Given the description of an element on the screen output the (x, y) to click on. 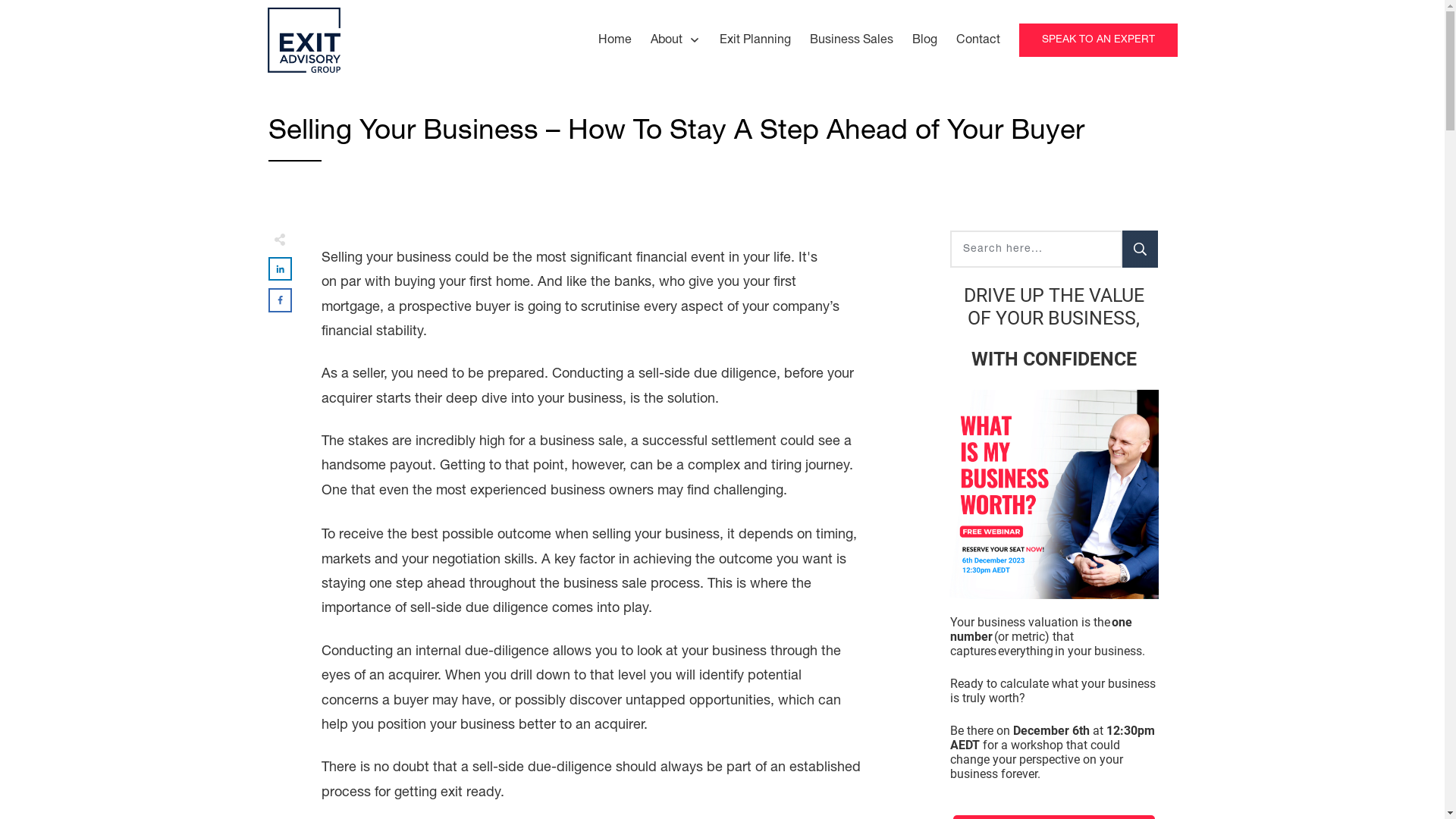
Business Sales Element type: text (851, 40)
About Element type: text (675, 40)
Exit Planning Element type: text (754, 40)
SPEAK TO AN EXPERT Element type: text (1098, 40)
Home Element type: text (614, 40)
Ad 5- W - WMBW Ad 1_1 Element type: hover (1053, 494)
Contact Element type: text (978, 40)
Blog Element type: text (924, 40)
